Given the description of an element on the screen output the (x, y) to click on. 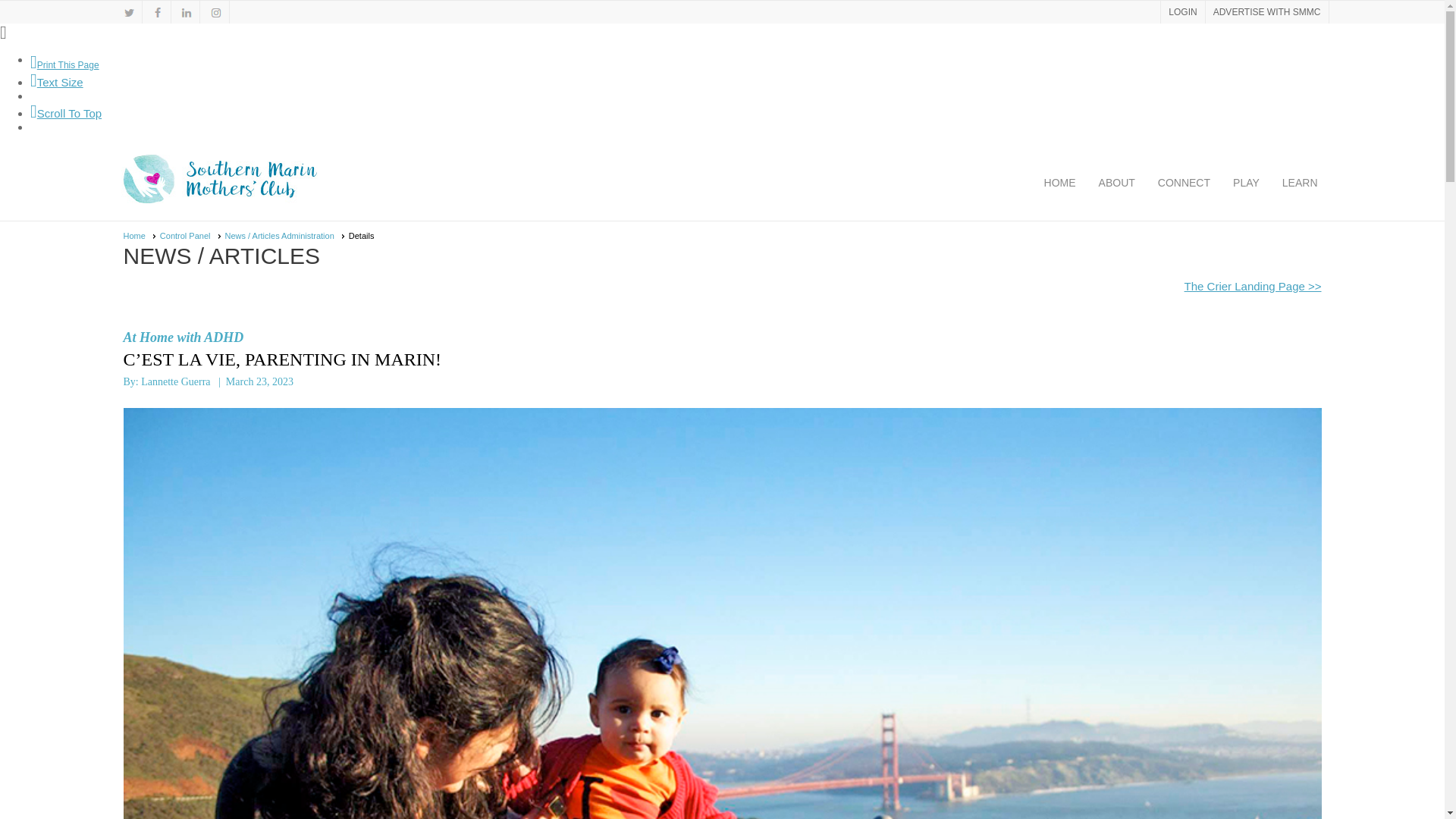
Text Size (56, 82)
LOGIN (1182, 11)
Print (64, 64)
Go To Top (65, 113)
ADVERTISE WITH SMMC (1267, 11)
